Given the description of an element on the screen output the (x, y) to click on. 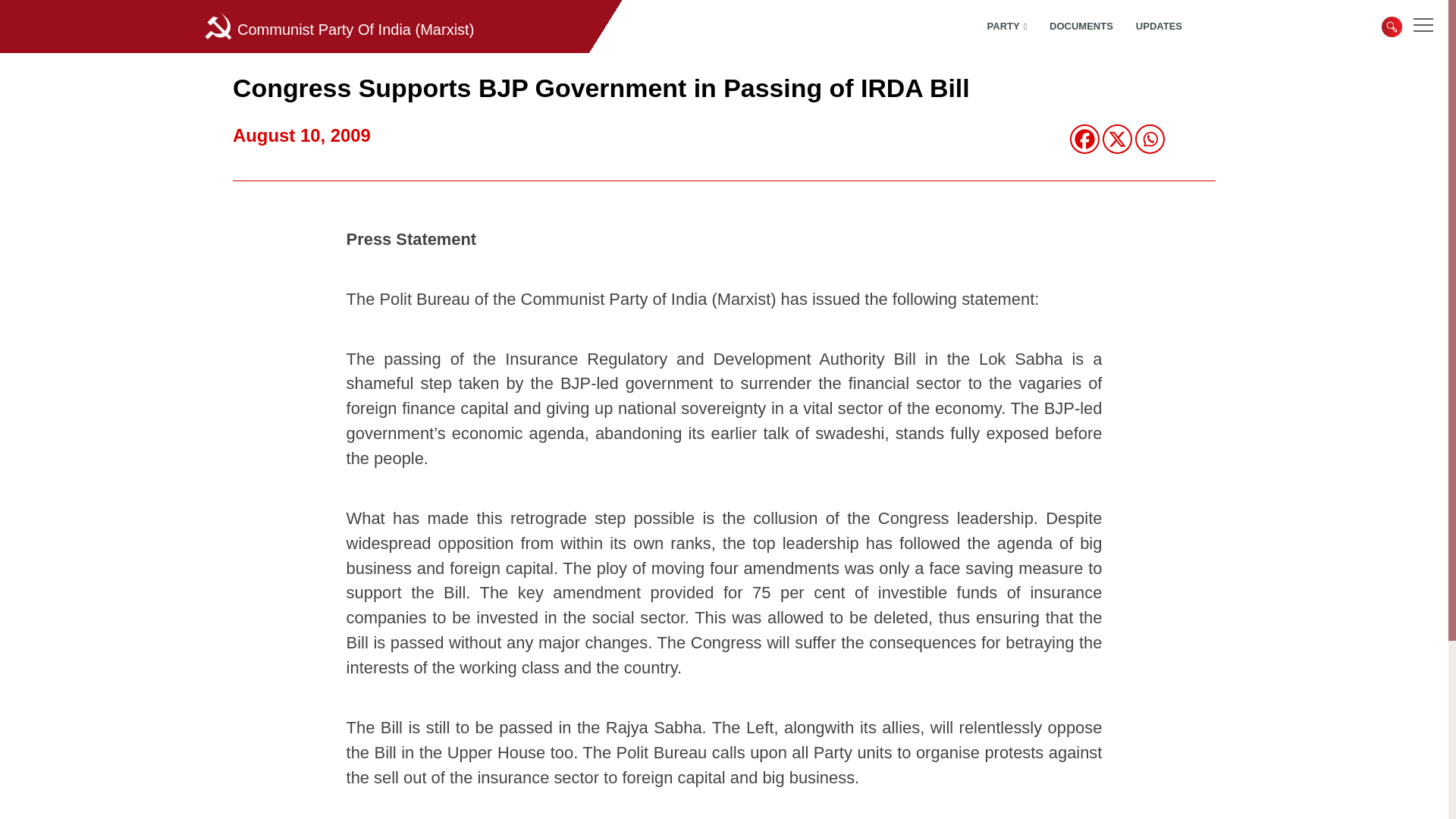
X (1117, 138)
Facebook (1084, 138)
Whatsapp (1149, 138)
DOCUMENTS (1069, 26)
PARTY (995, 26)
Congress Supports BJP Government in Passing of IRDA Bill (600, 87)
UPDATES (1147, 26)
